Given the description of an element on the screen output the (x, y) to click on. 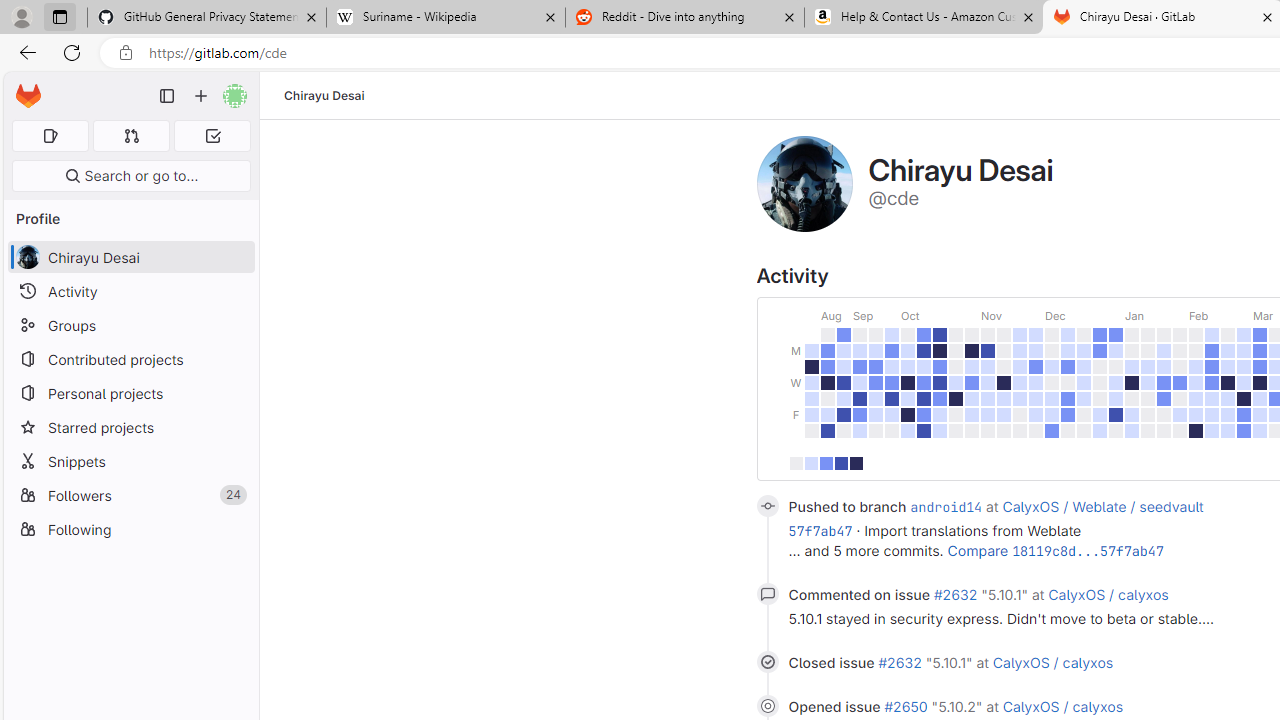
Merge requests 0 (131, 136)
